Given the description of an element on the screen output the (x, y) to click on. 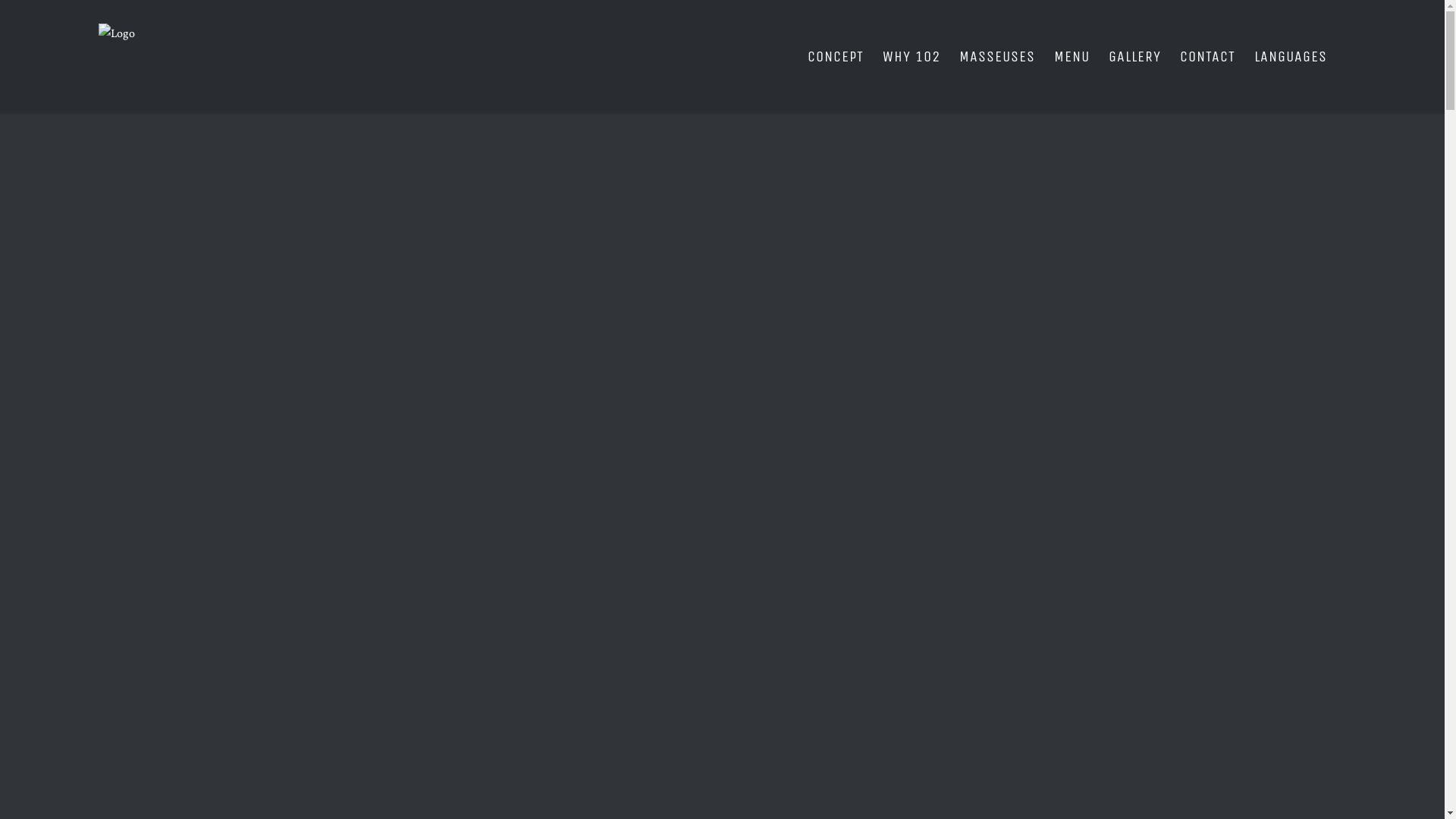
LANGUAGES Element type: text (1290, 56)
WHY 102 Element type: text (911, 56)
CONTACT Element type: text (1207, 56)
CONCEPT Element type: text (835, 56)
MENU Element type: text (1071, 56)
MASSEUSES Element type: text (997, 56)
GALLERY Element type: text (1134, 56)
